Given the description of an element on the screen output the (x, y) to click on. 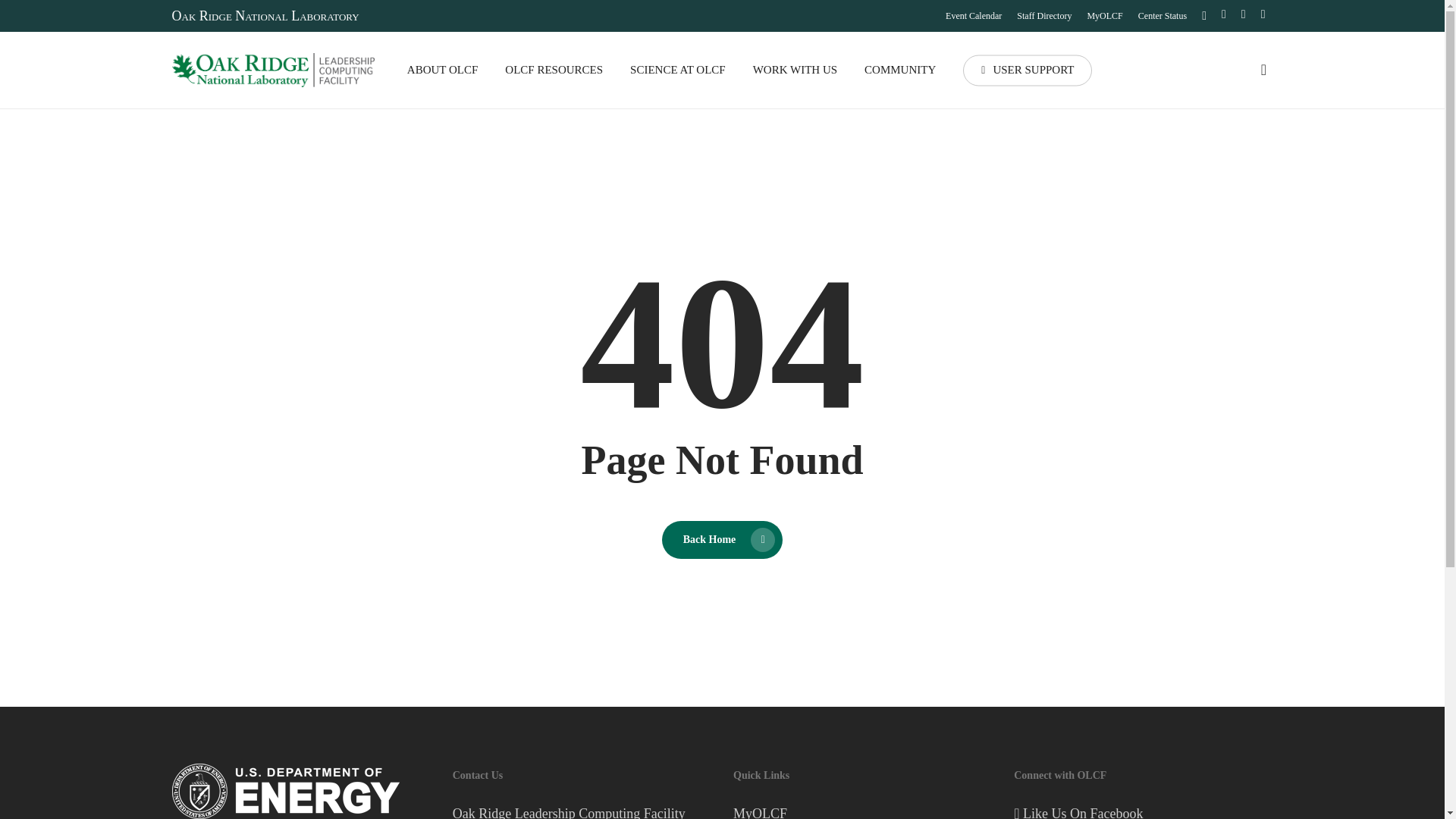
Center Status (1162, 15)
Event Calendar (972, 15)
MyOLCF (1104, 15)
OLCF RESOURCES (553, 69)
ABOUT OLCF (443, 69)
Staff Directory (1043, 15)
Oak Ridge National Laboratory (264, 15)
SCIENCE AT OLCF (677, 69)
